Given the description of an element on the screen output the (x, y) to click on. 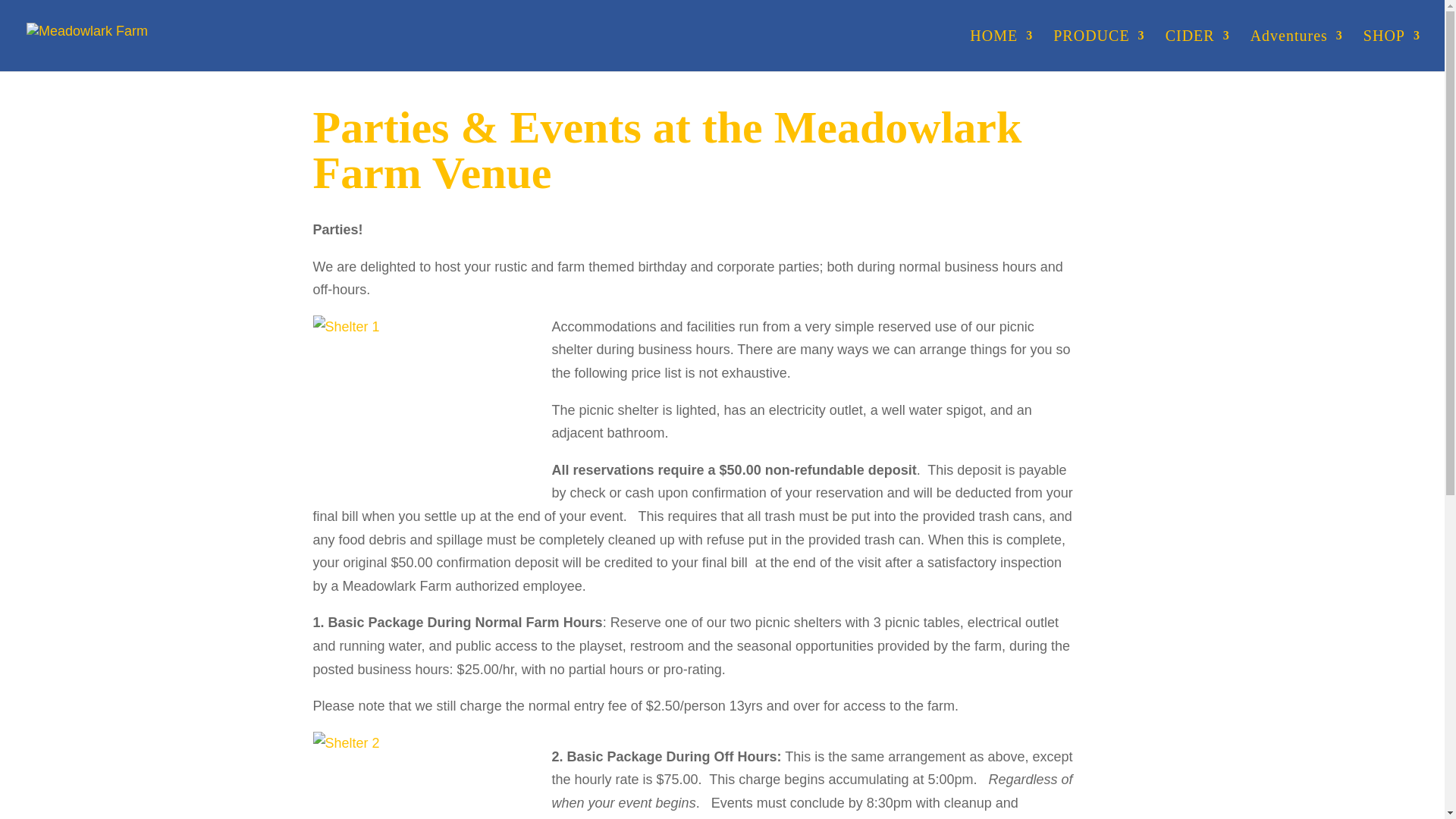
CIDER (1198, 49)
Adventures (1296, 49)
HOME (1000, 49)
PRODUCE (1098, 49)
SHOP (1391, 49)
